Given the description of an element on the screen output the (x, y) to click on. 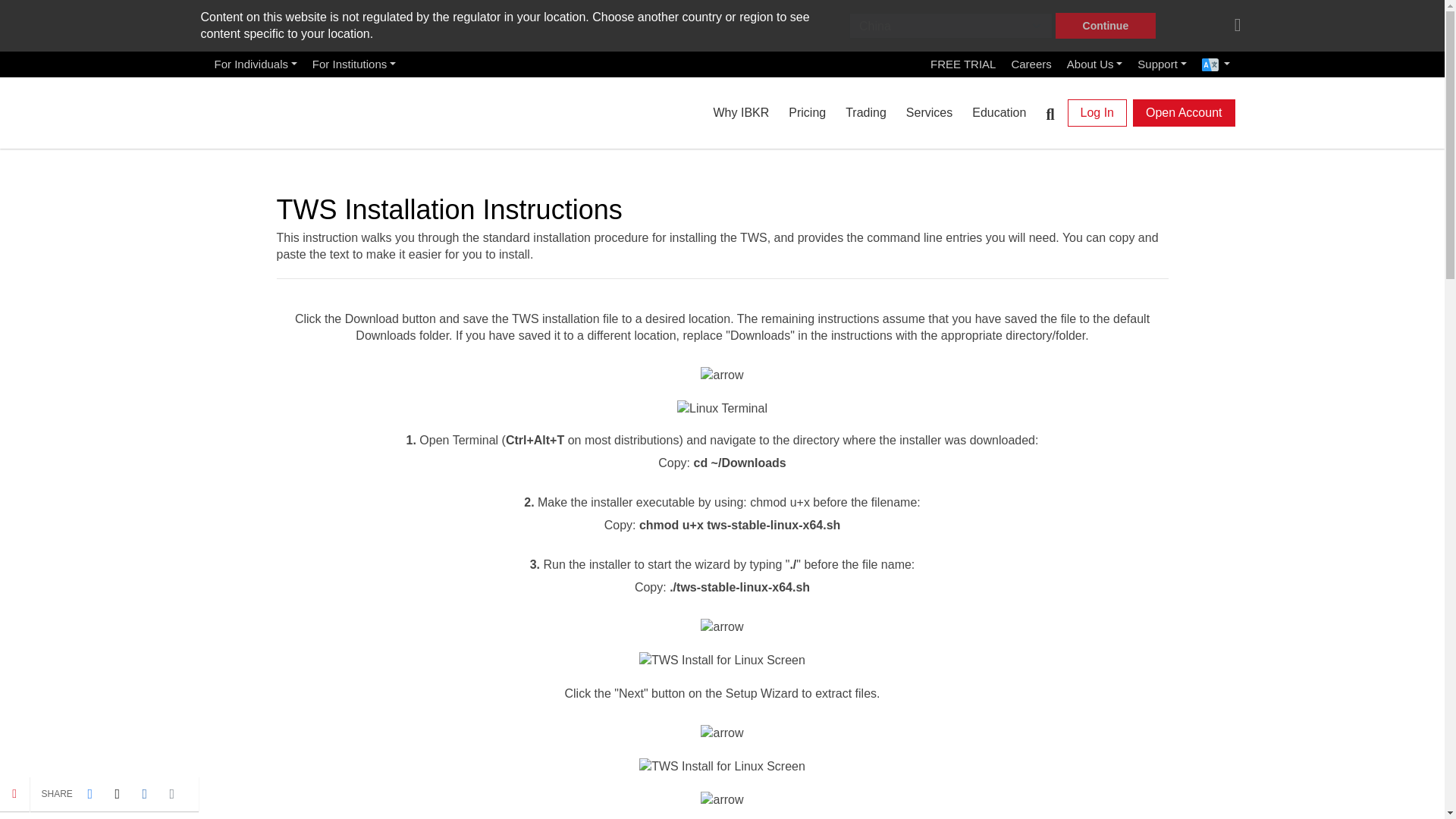
Share on Linkedin (144, 793)
Share on Twitter (117, 793)
Interactive Brokers Home (291, 109)
Support (1161, 63)
About Us (1095, 63)
Continue (1105, 25)
For Institutions (353, 63)
For Individuals (255, 63)
Share on Facebook (90, 793)
Careers (1030, 63)
